Given the description of an element on the screen output the (x, y) to click on. 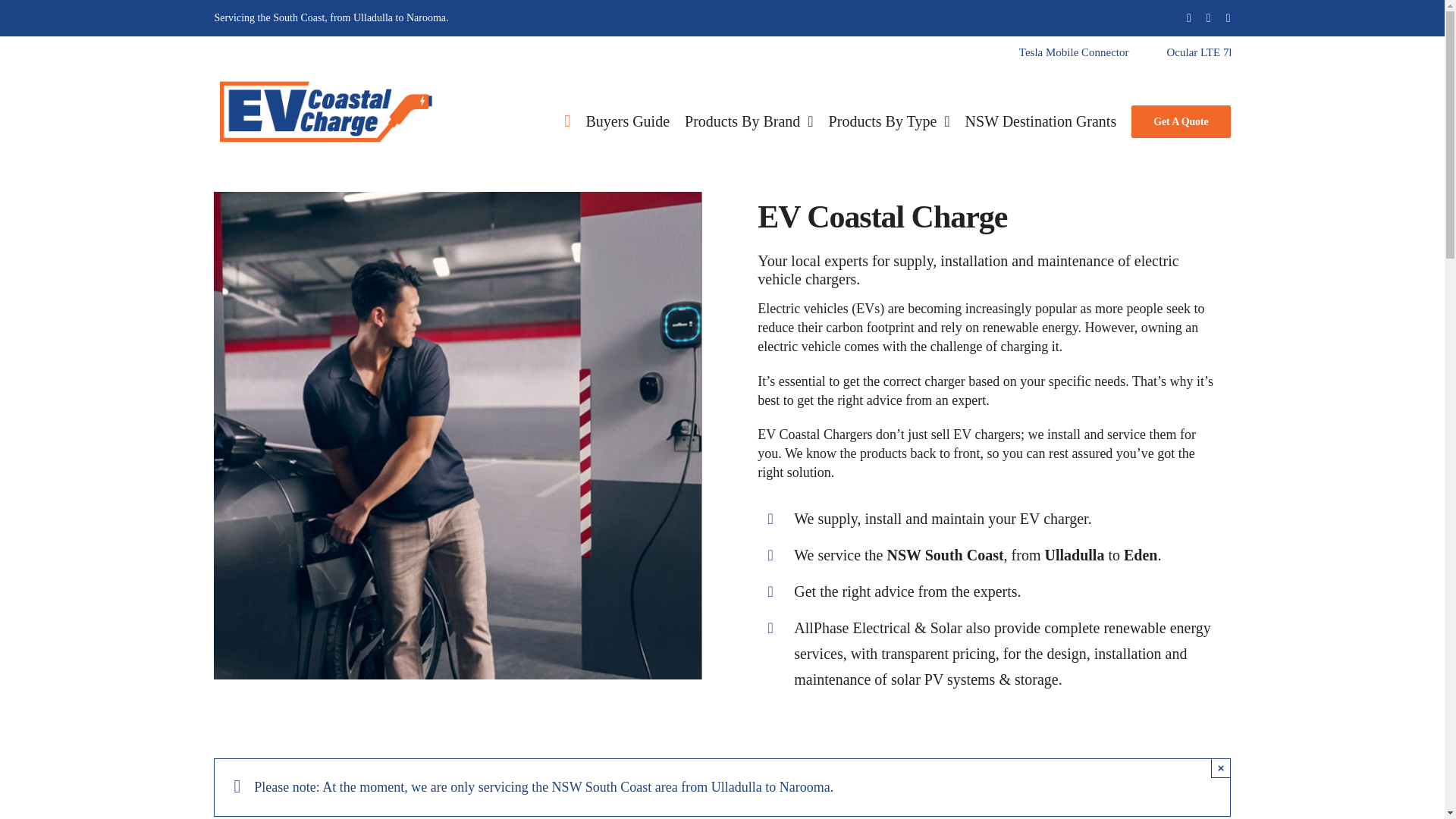
NSW Destination Grants (1040, 120)
Products By Type (889, 120)
Products By Brand (748, 120)
Buyers Guide (627, 120)
Get A Quote (1180, 121)
Tesla Mobile Connector (1271, 52)
